Given the description of an element on the screen output the (x, y) to click on. 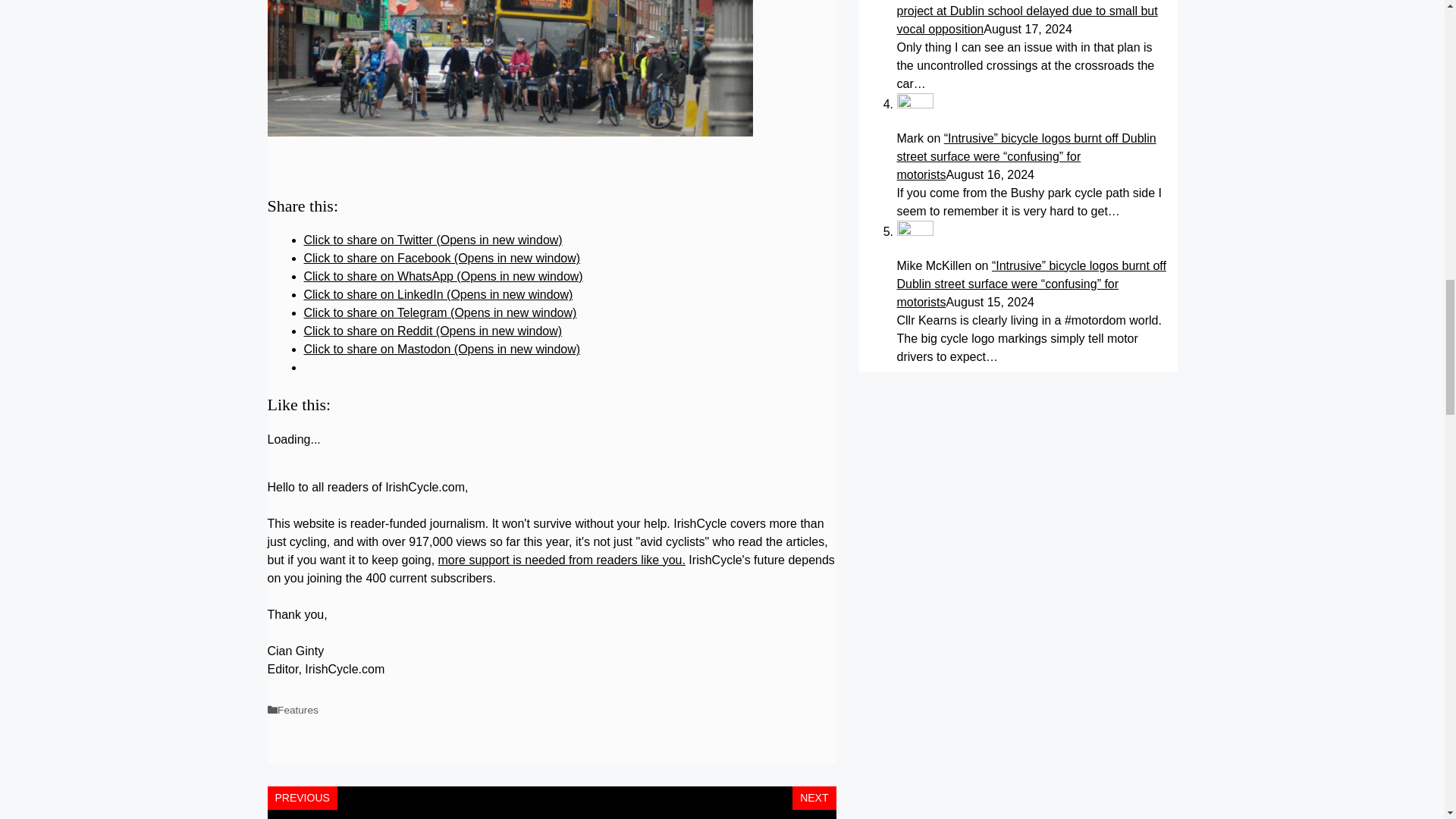
Click to share on Mastodon (440, 349)
Click to share on LinkedIn (437, 294)
Click to share on WhatsApp (442, 276)
Click to share on Reddit (432, 330)
Click to share on Telegram (439, 312)
Click to share on Facebook (440, 257)
Click to share on Twitter (432, 239)
